Given the description of an element on the screen output the (x, y) to click on. 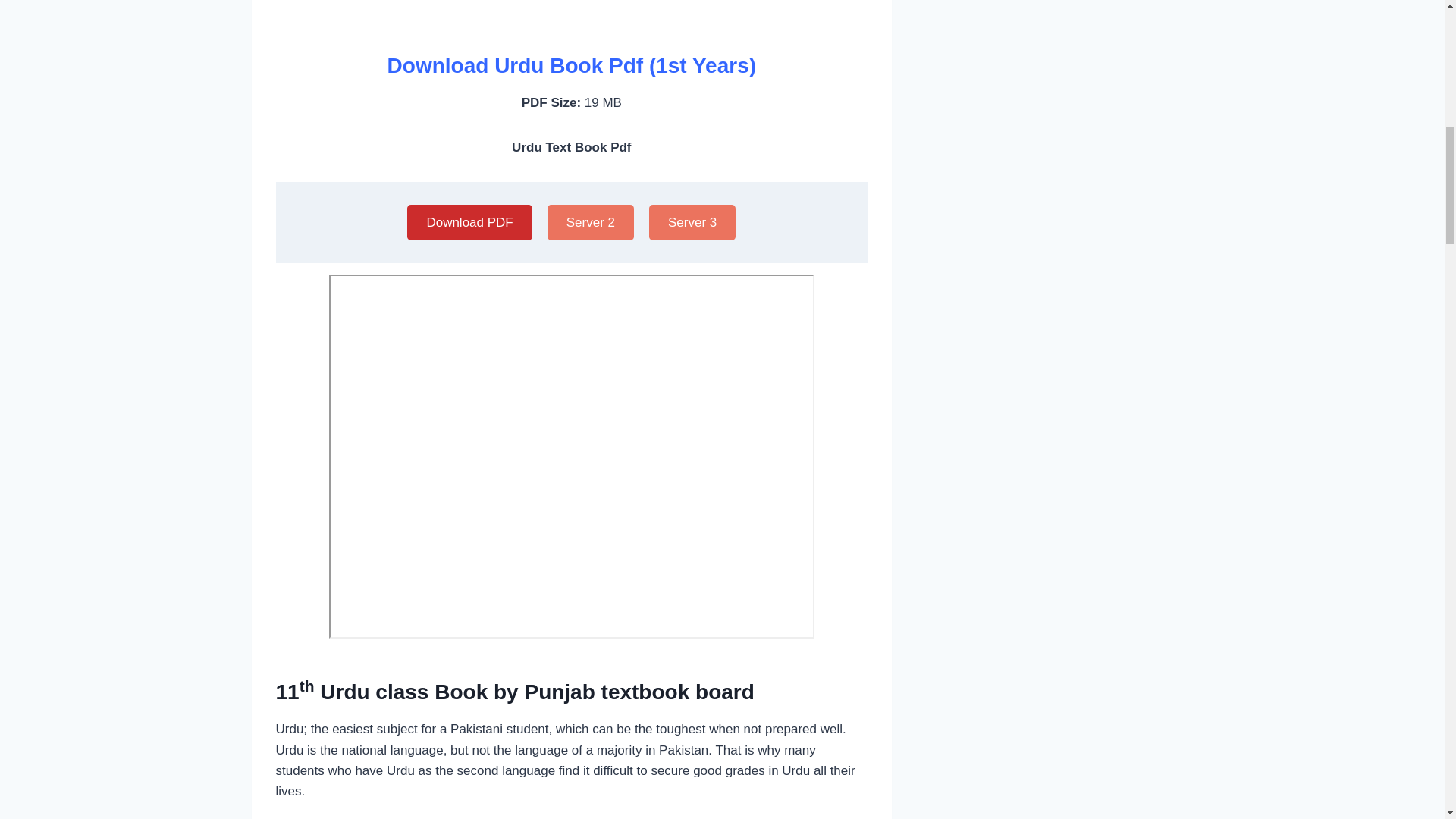
Advertisement (571, 9)
Server 3 (692, 222)
Download PDF (469, 222)
Server 2 (590, 222)
